Given the description of an element on the screen output the (x, y) to click on. 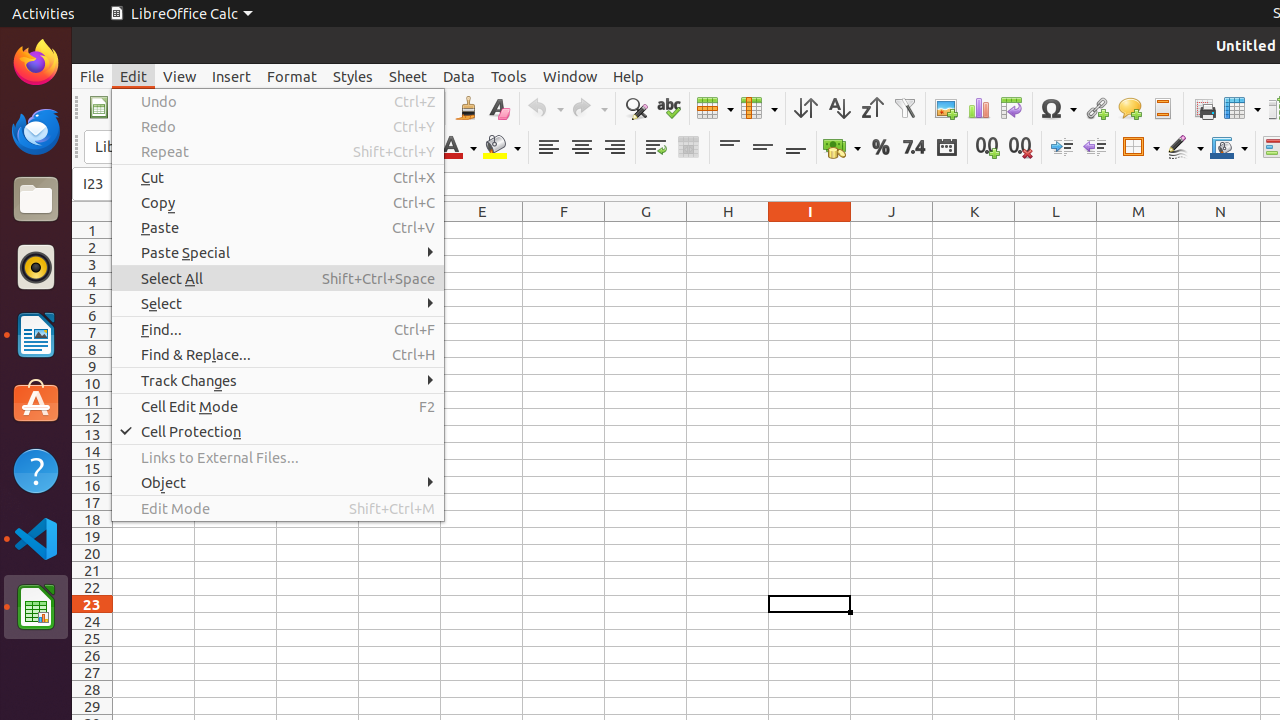
F1 Element type: table-cell (564, 230)
Select Element type: menu (278, 303)
Redo Element type: push-button (589, 108)
Find... Element type: menu-item (278, 329)
Track Changes Element type: menu (278, 380)
